Given the description of an element on the screen output the (x, y) to click on. 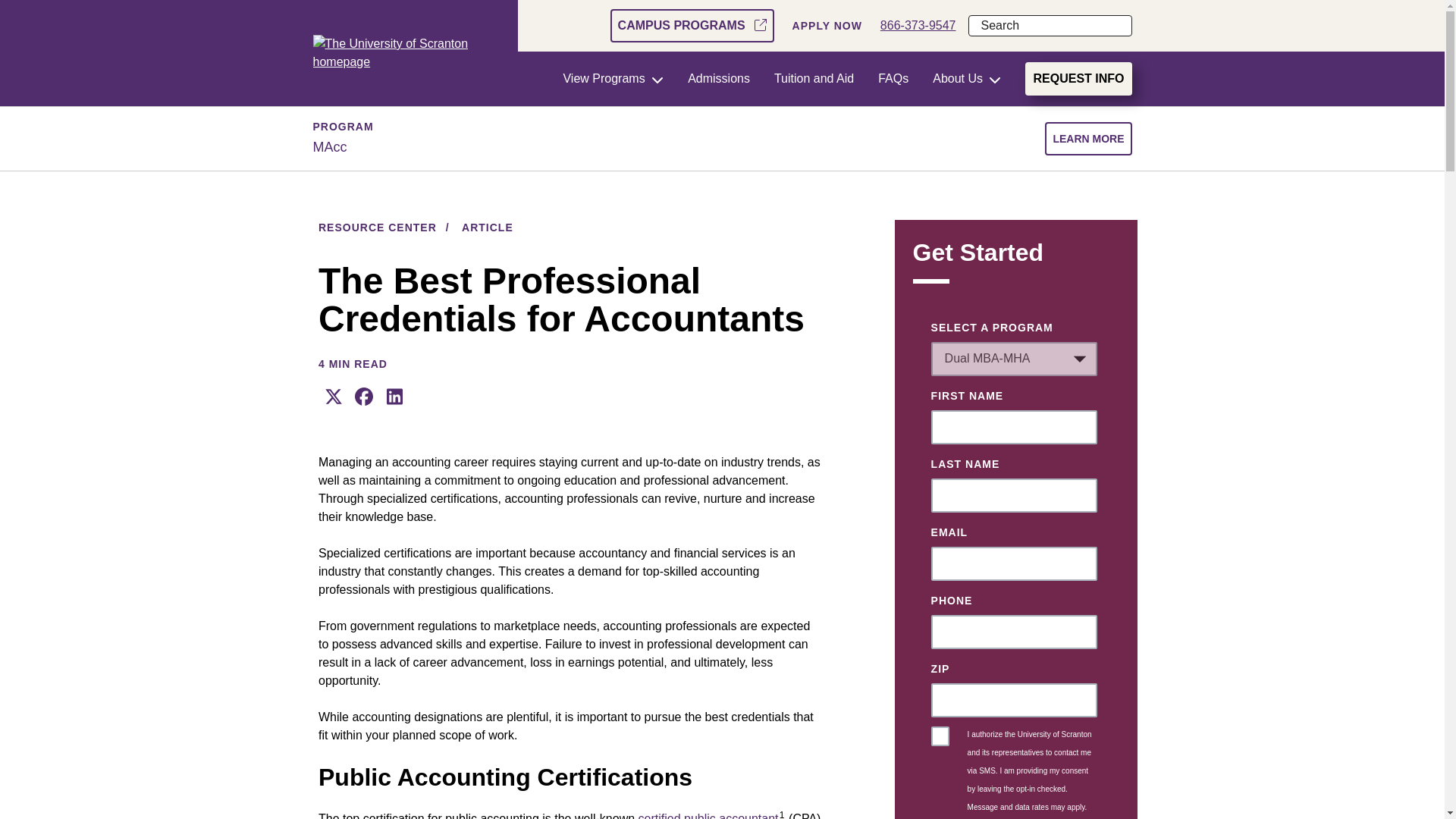
View Programs (612, 78)
certified public accountant (708, 815)
Admissions (718, 78)
APPLY NOW (826, 25)
LEARN MORE (1088, 138)
submit search (1121, 25)
on (940, 736)
866-373-9547 (918, 25)
CAMPUS PROGRAMS (692, 25)
About Us (967, 78)
